Given the description of an element on the screen output the (x, y) to click on. 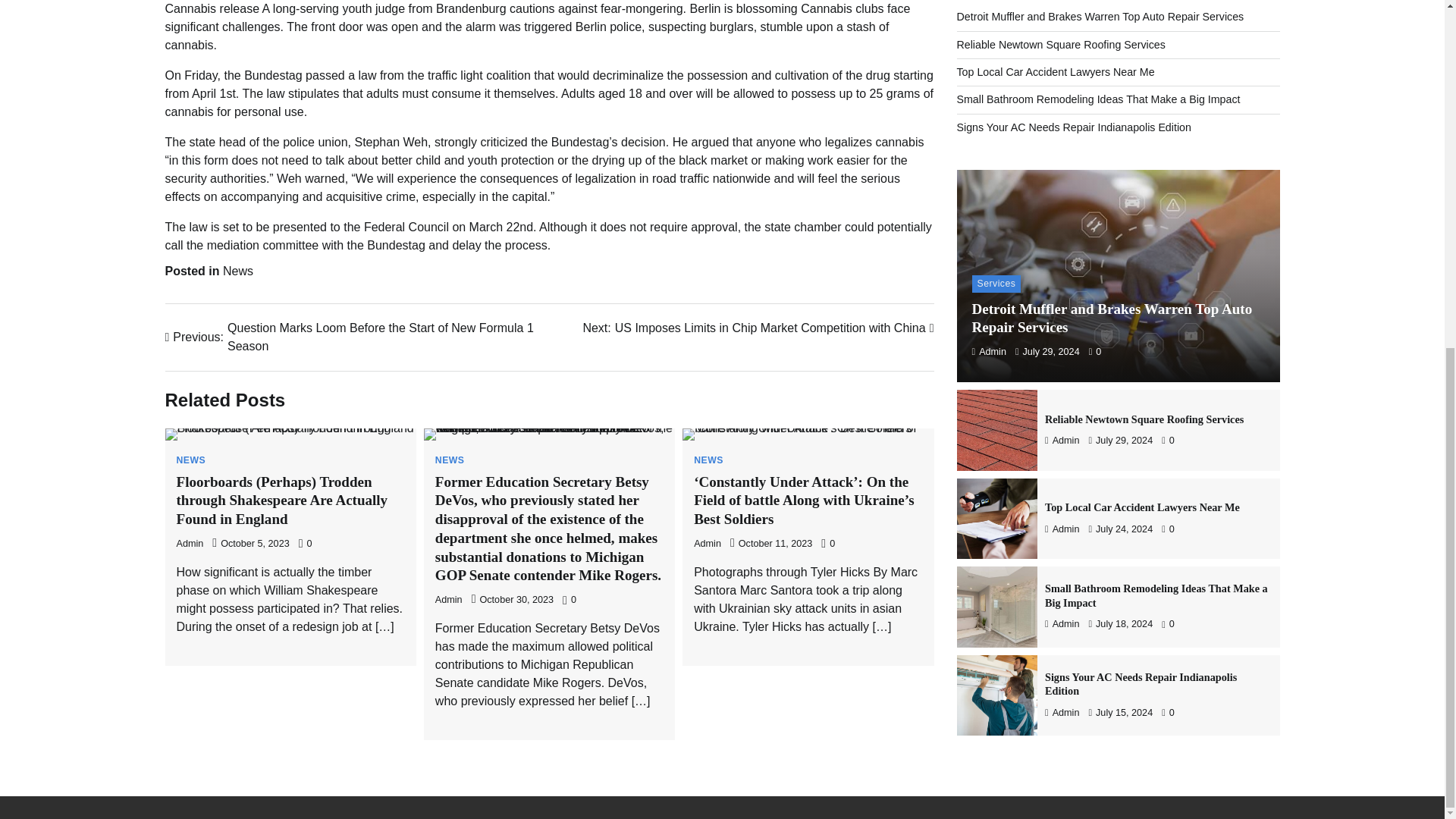
Admin (449, 599)
NEWS (190, 460)
News (237, 270)
Admin (989, 10)
Admin (189, 543)
NEWS (449, 460)
Admin (707, 543)
NEWS (708, 460)
